Given the description of an element on the screen output the (x, y) to click on. 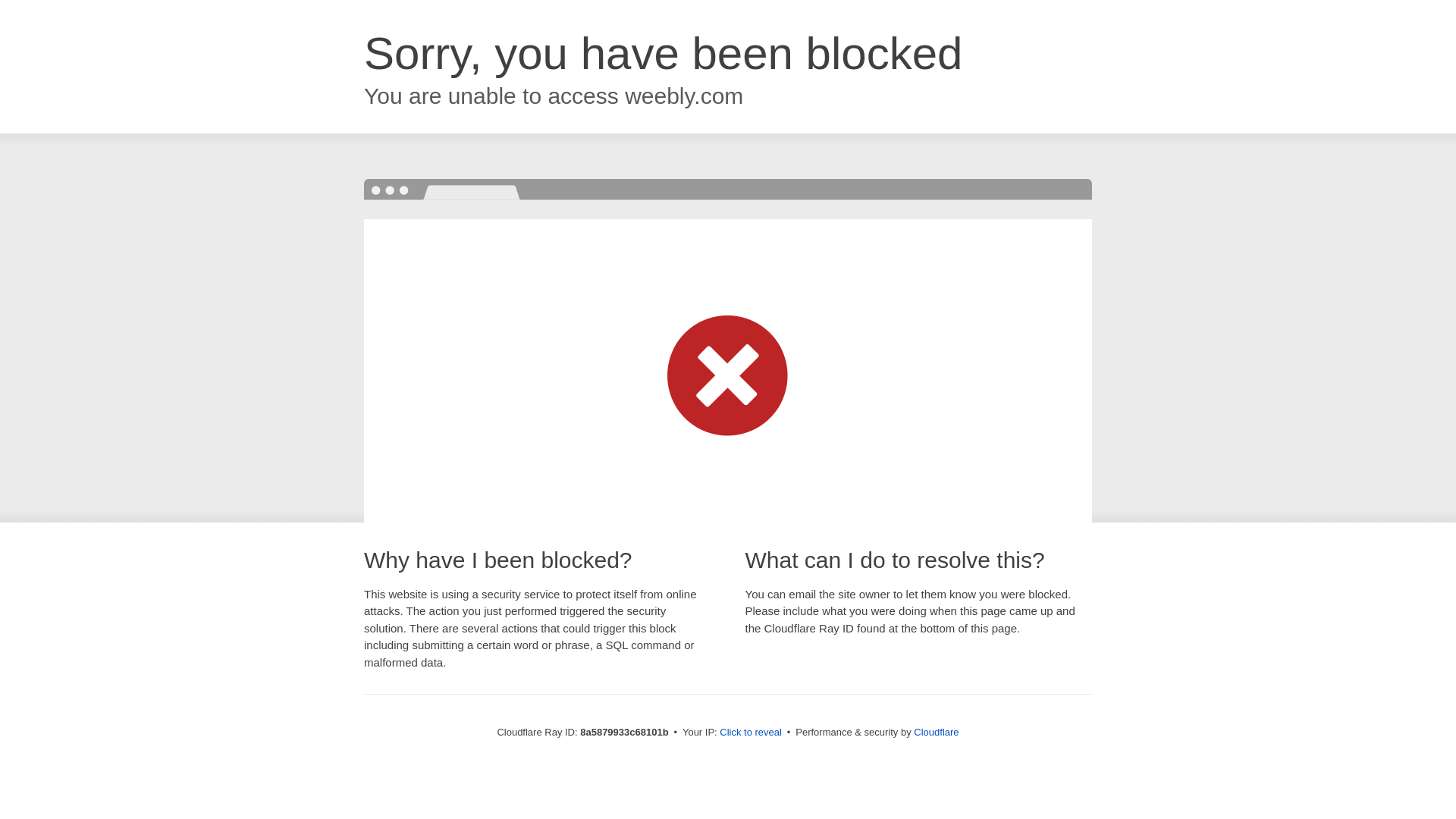
Cloudflare (936, 731)
Click to reveal (750, 732)
